Given the description of an element on the screen output the (x, y) to click on. 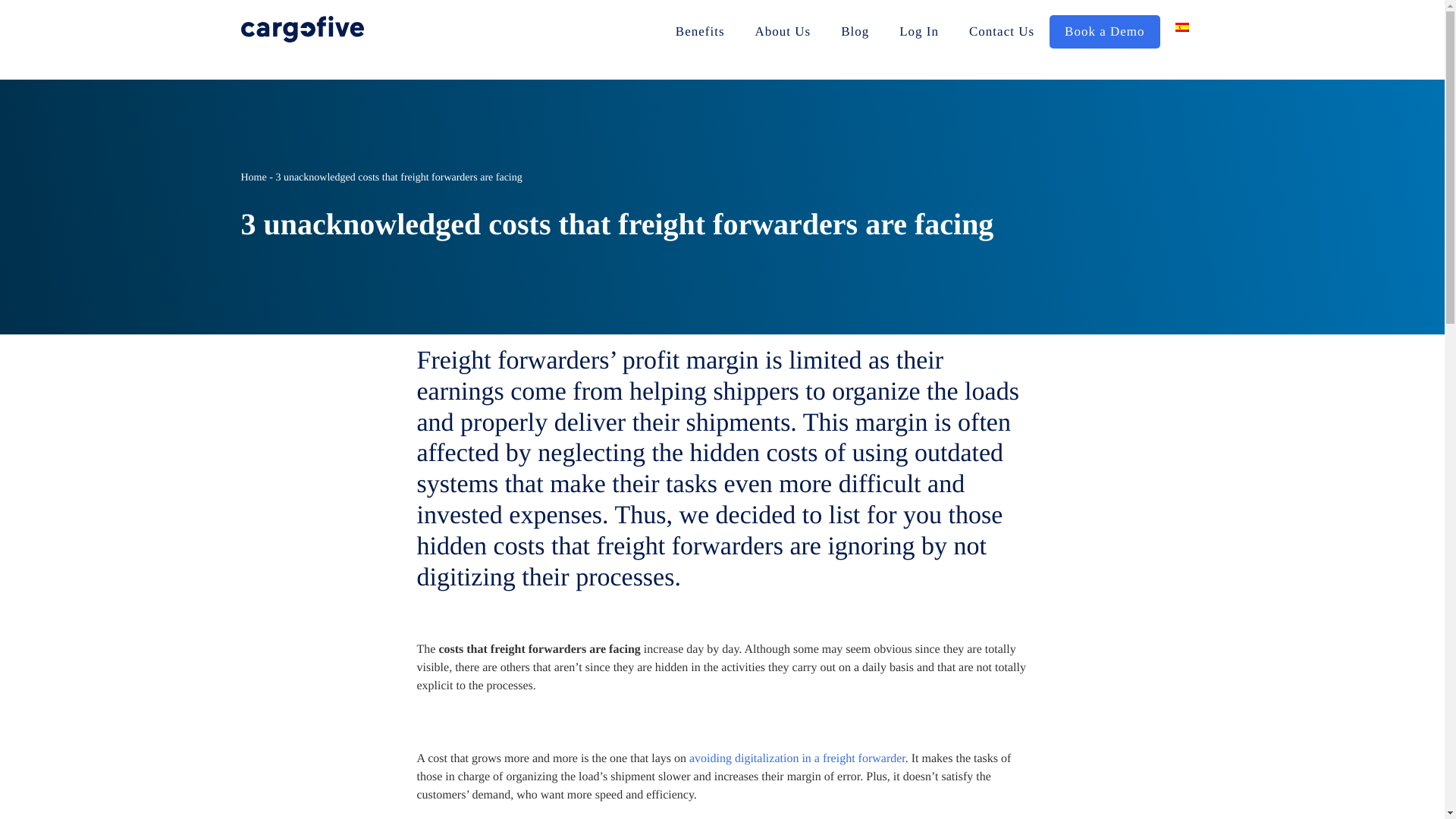
Home (253, 176)
Contact Us (1001, 31)
Blog (854, 31)
Book a Demo (1103, 31)
avoiding digitalization in a freight forwarder (796, 758)
Benefits (700, 31)
Log In (918, 31)
About Us (783, 31)
